Given the description of an element on the screen output the (x, y) to click on. 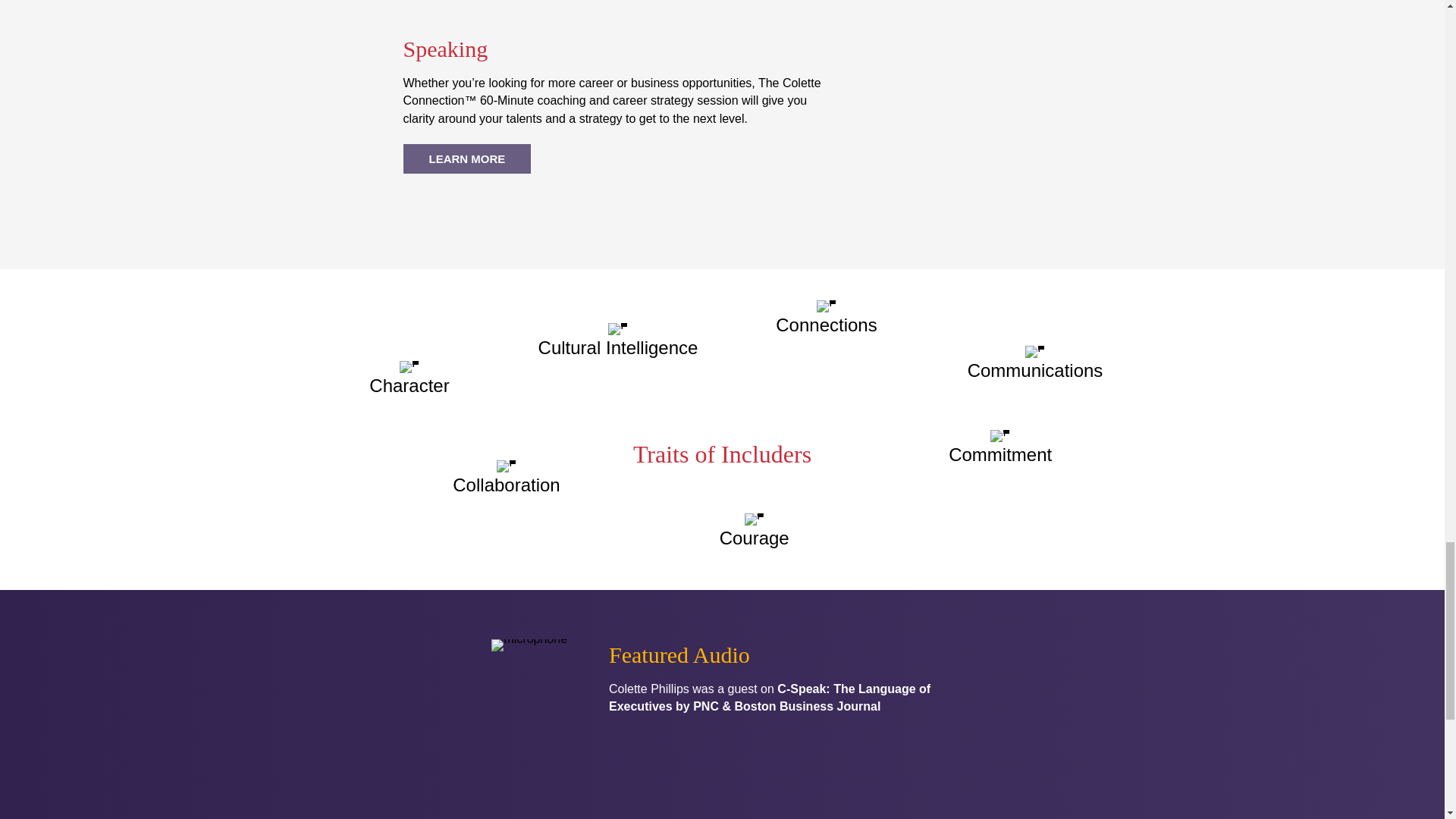
LEARN MORE (467, 158)
person-icon-423261 (754, 519)
person-icon-423261 (617, 328)
microphone (529, 645)
person-icon-423261 (1000, 435)
person-icon-423261 (408, 367)
person-icon-423261 (825, 306)
person-icon-423261 (506, 466)
person-icon-423261 (1035, 351)
